Given the description of an element on the screen output the (x, y) to click on. 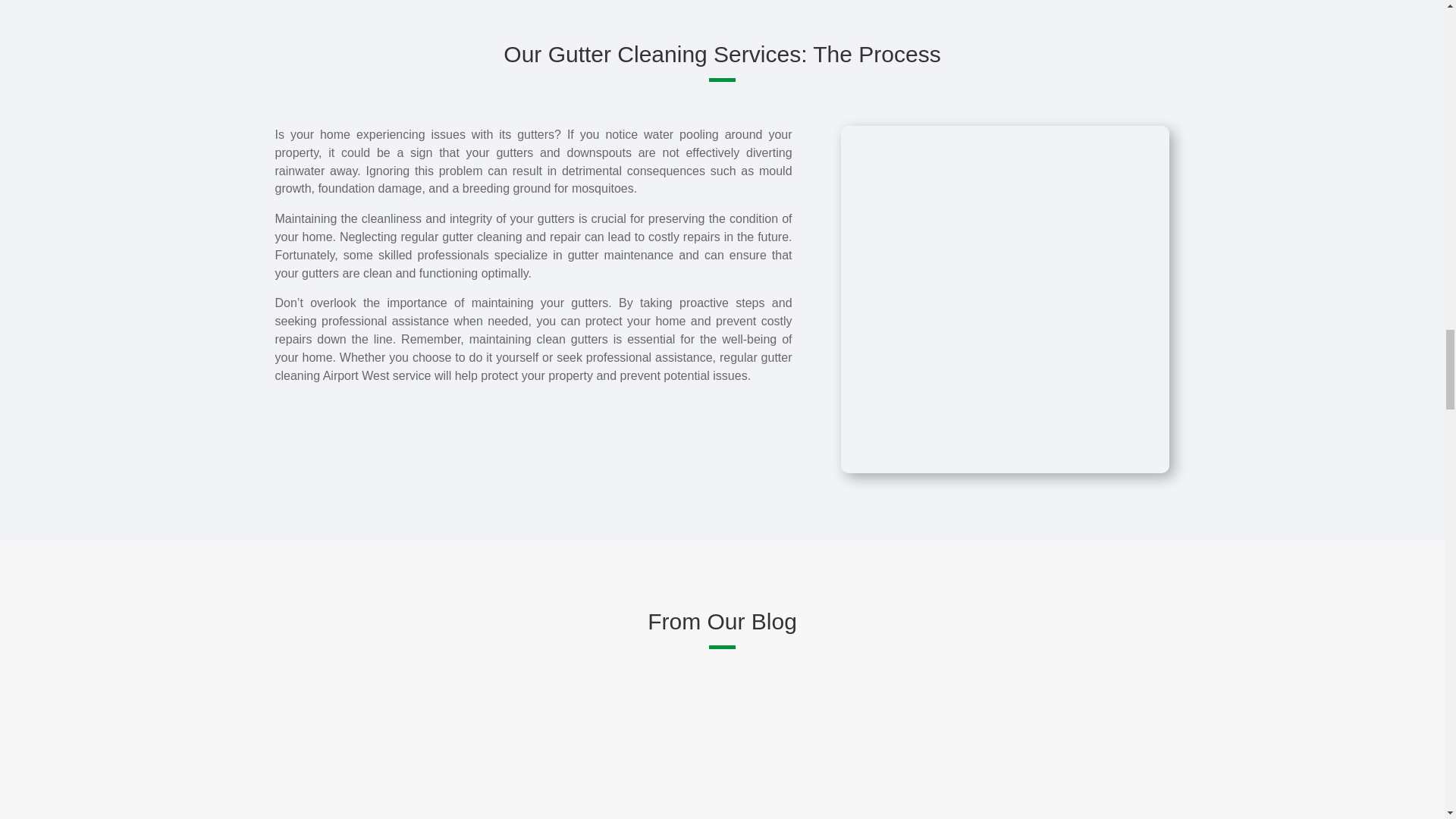
gutter-cleaing-after-work-img (708, 110)
gutter after 1-1-min (394, 110)
gutter after 1-min (1023, 110)
